Given the description of an element on the screen output the (x, y) to click on. 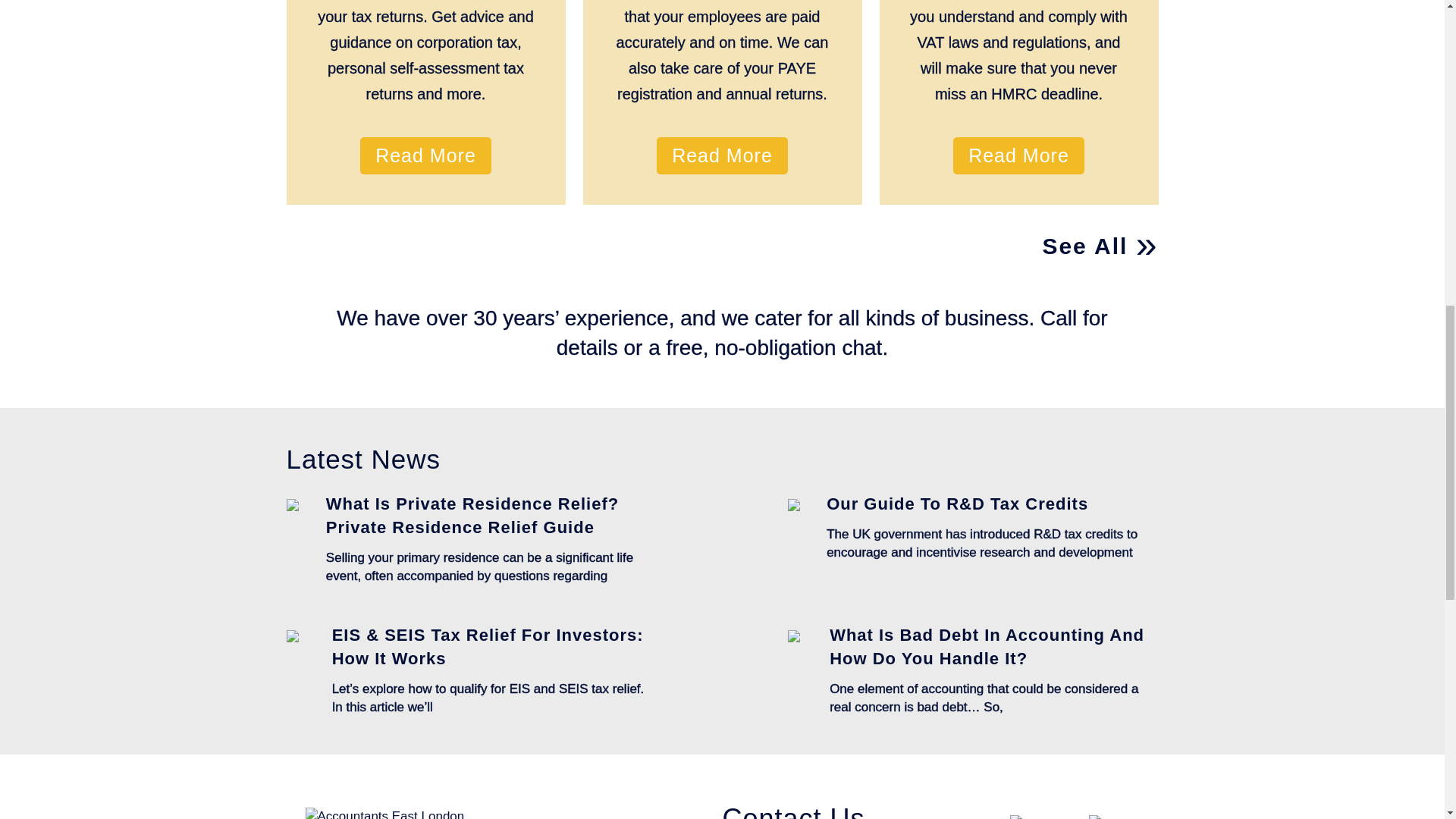
What Is Bad Debt In Accounting And How Do You Handle It? (986, 646)
Read More (721, 155)
Read More (1018, 155)
Read More (425, 155)
